Given the description of an element on the screen output the (x, y) to click on. 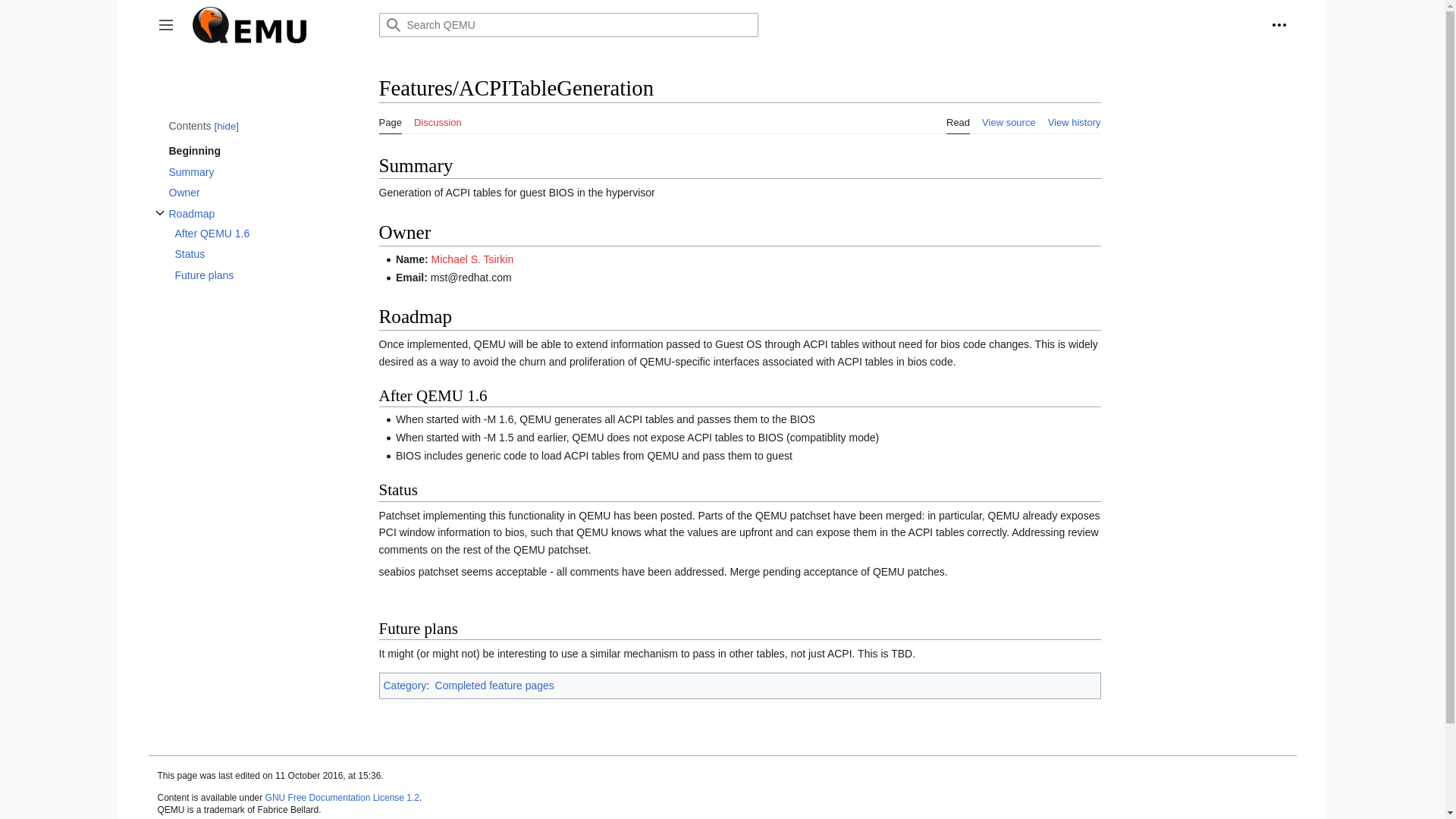
Go (392, 24)
More options (1279, 24)
Search (392, 24)
Status (248, 253)
View source (1008, 118)
Go (392, 24)
Toggle Roadmap subsection (159, 212)
View history (1074, 118)
Beginning (250, 150)
hide (226, 125)
